Given the description of an element on the screen output the (x, y) to click on. 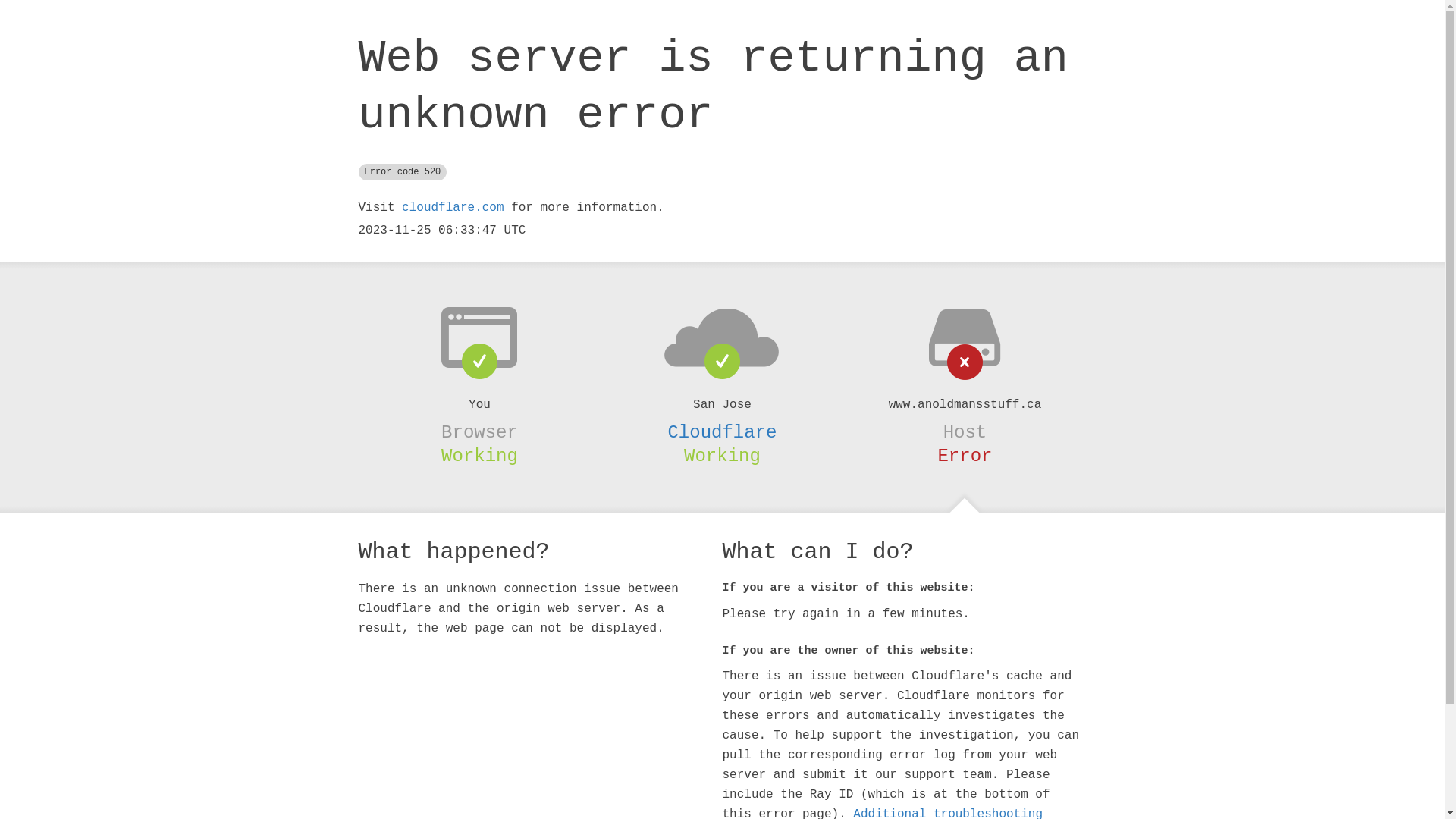
cloudflare.com Element type: text (452, 207)
Cloudflare Element type: text (721, 432)
